Given the description of an element on the screen output the (x, y) to click on. 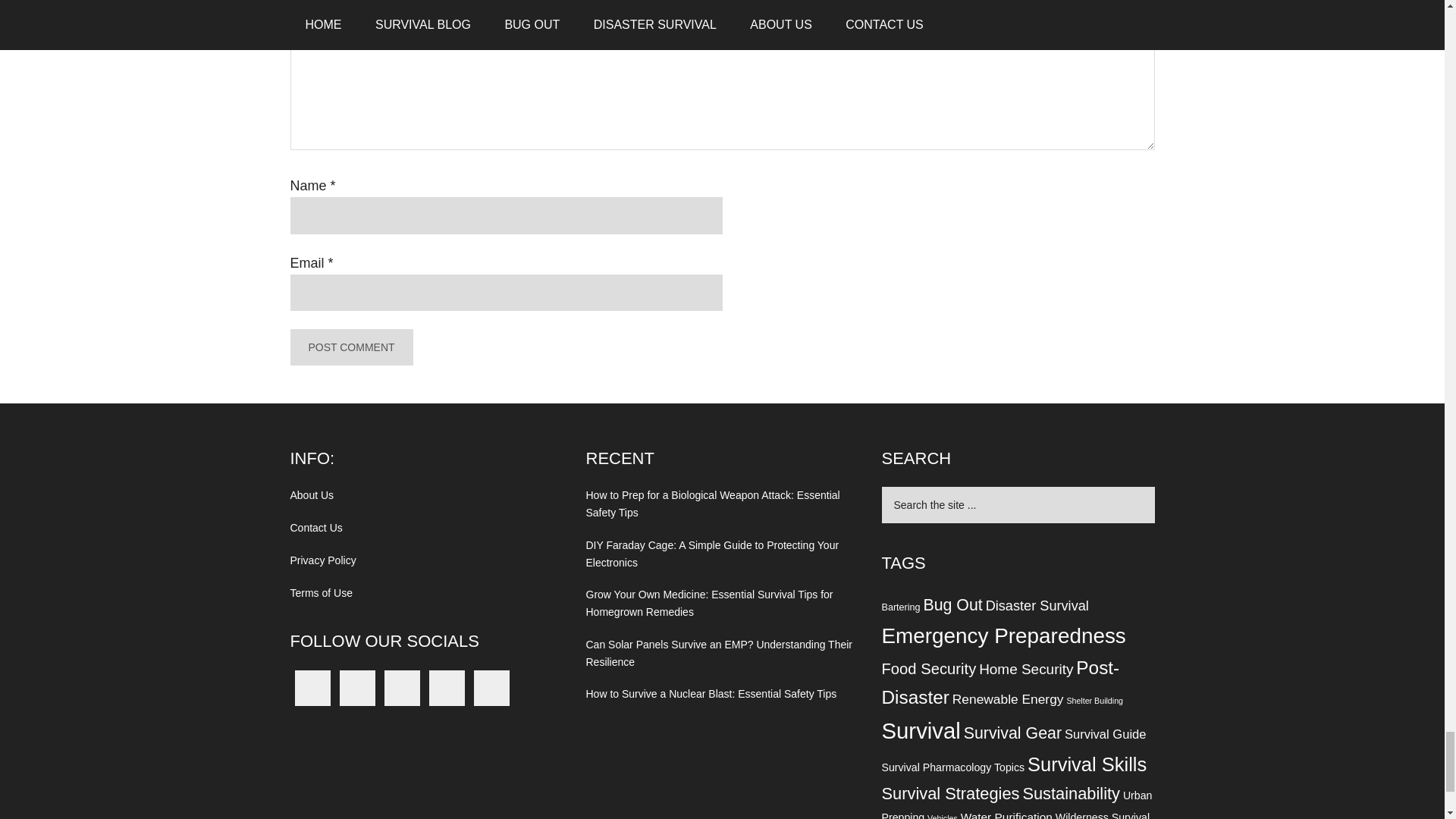
Post Comment (350, 347)
